Given the description of an element on the screen output the (x, y) to click on. 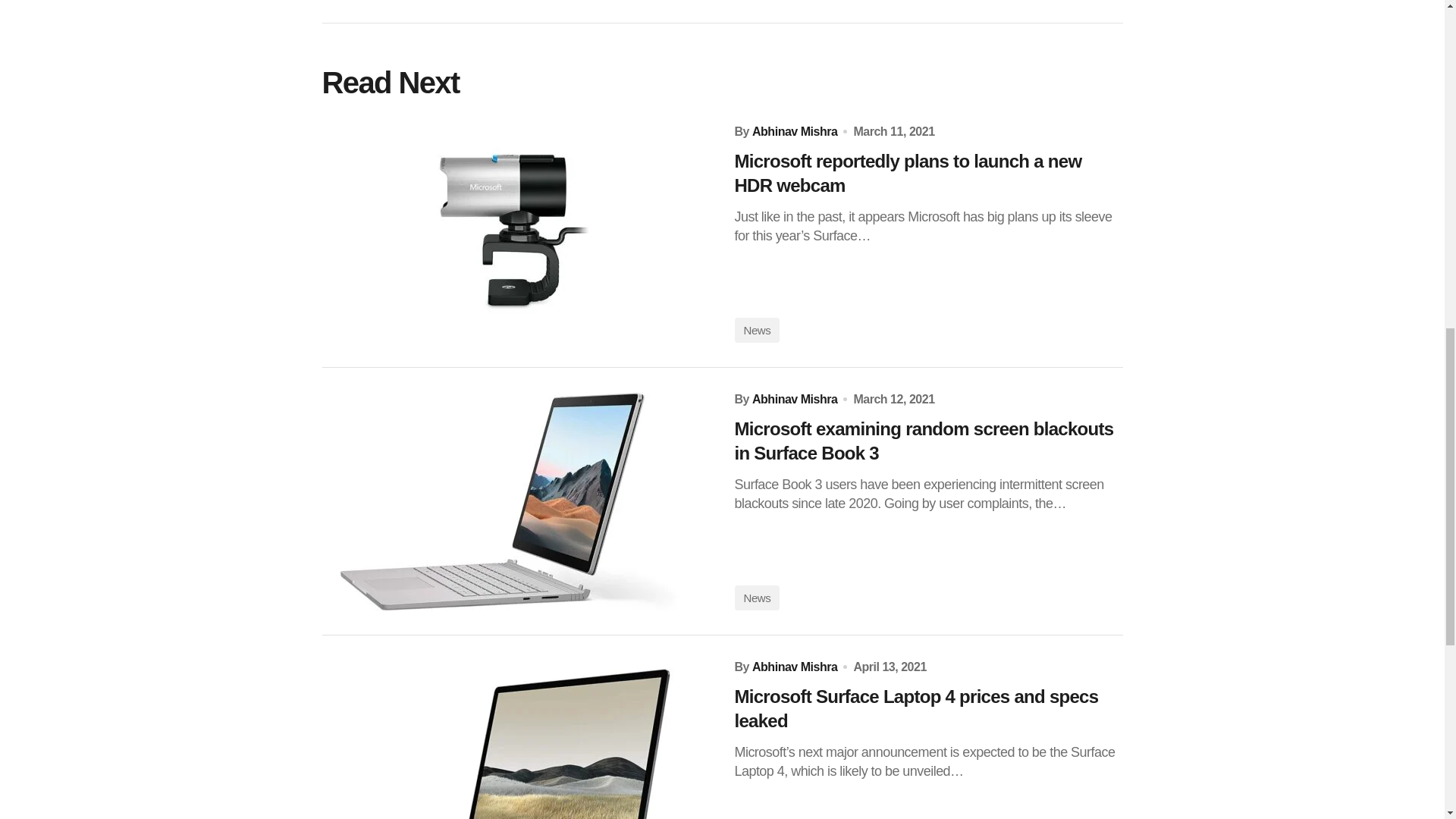
Abhinav Mishra (794, 131)
Microsoft Surface Laptop 4 prices and specs leaked 3 (515, 739)
Microsoft reportedly plans to launch a new HDR webcam (927, 172)
Microsoft reportedly plans to launch a new HDR webcam 1 (515, 233)
News (755, 330)
